Given the description of an element on the screen output the (x, y) to click on. 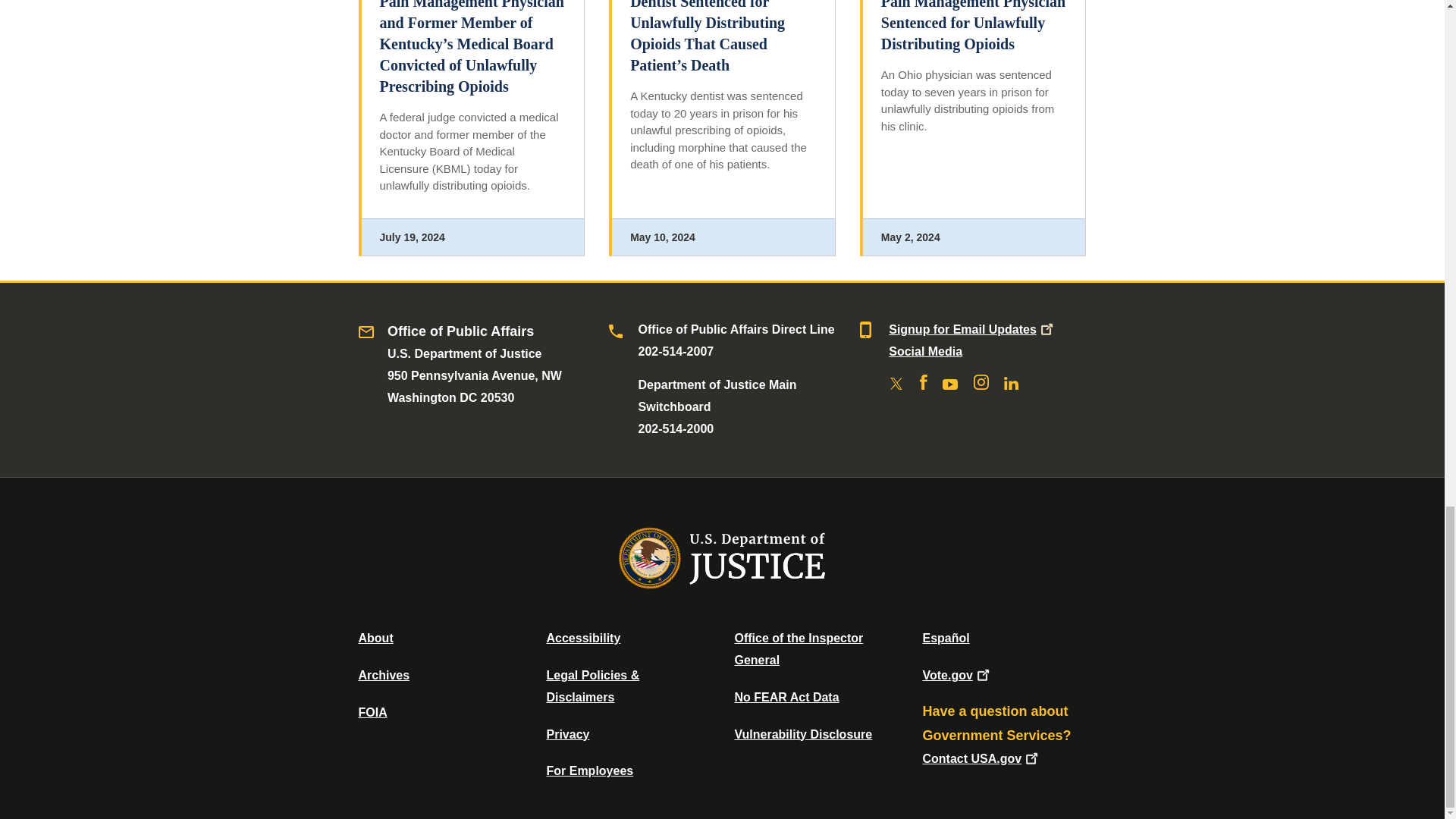
Data Posted Pursuant To The No Fear Act (785, 697)
About DOJ (375, 637)
For Employees (589, 770)
Accessibility Statement (583, 637)
Legal Policies and Disclaimers (592, 686)
Department of Justice Archive (383, 675)
Office of Information Policy (372, 712)
